Given the description of an element on the screen output the (x, y) to click on. 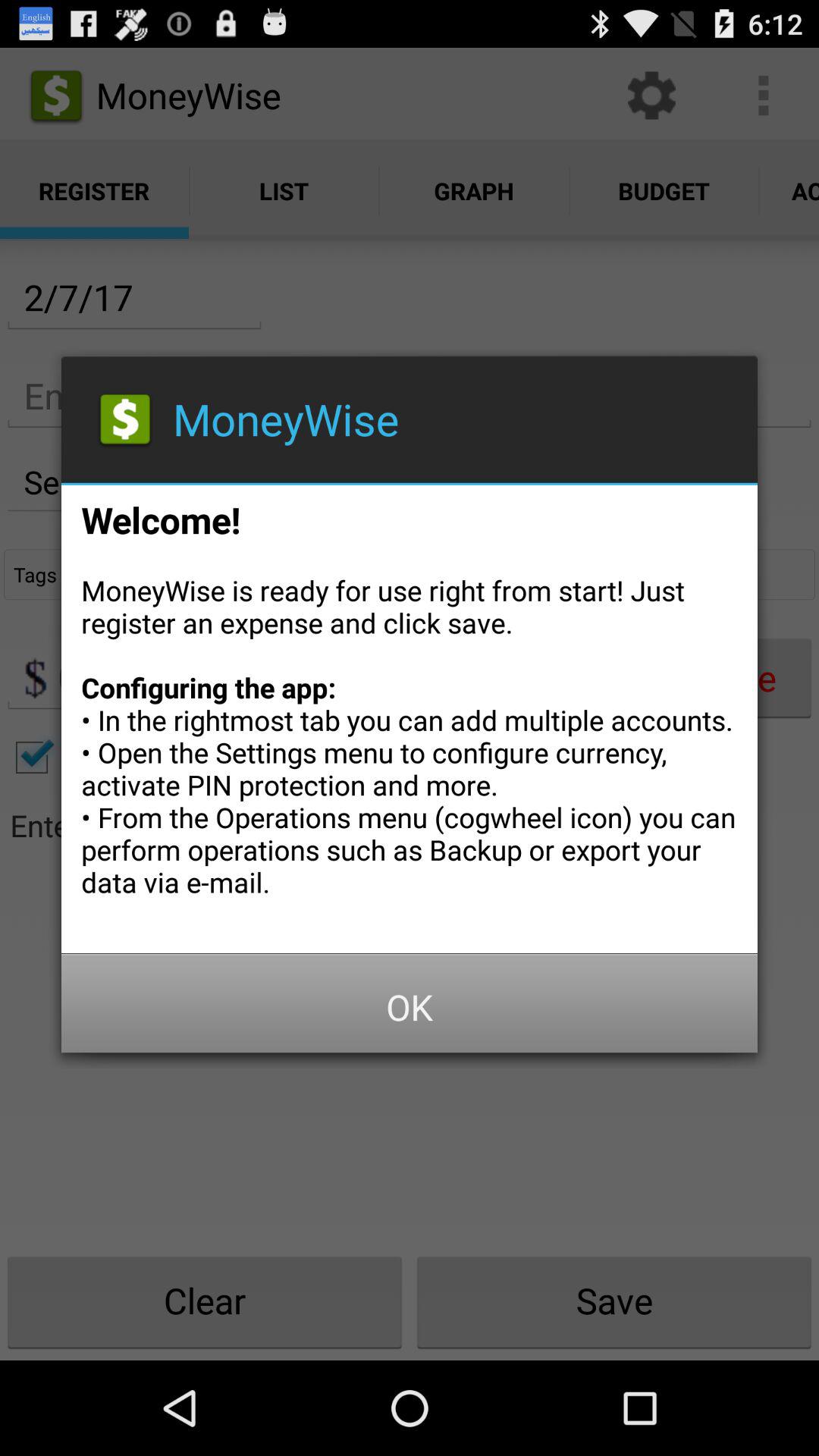
press button at the bottom (409, 1007)
